Given the description of an element on the screen output the (x, y) to click on. 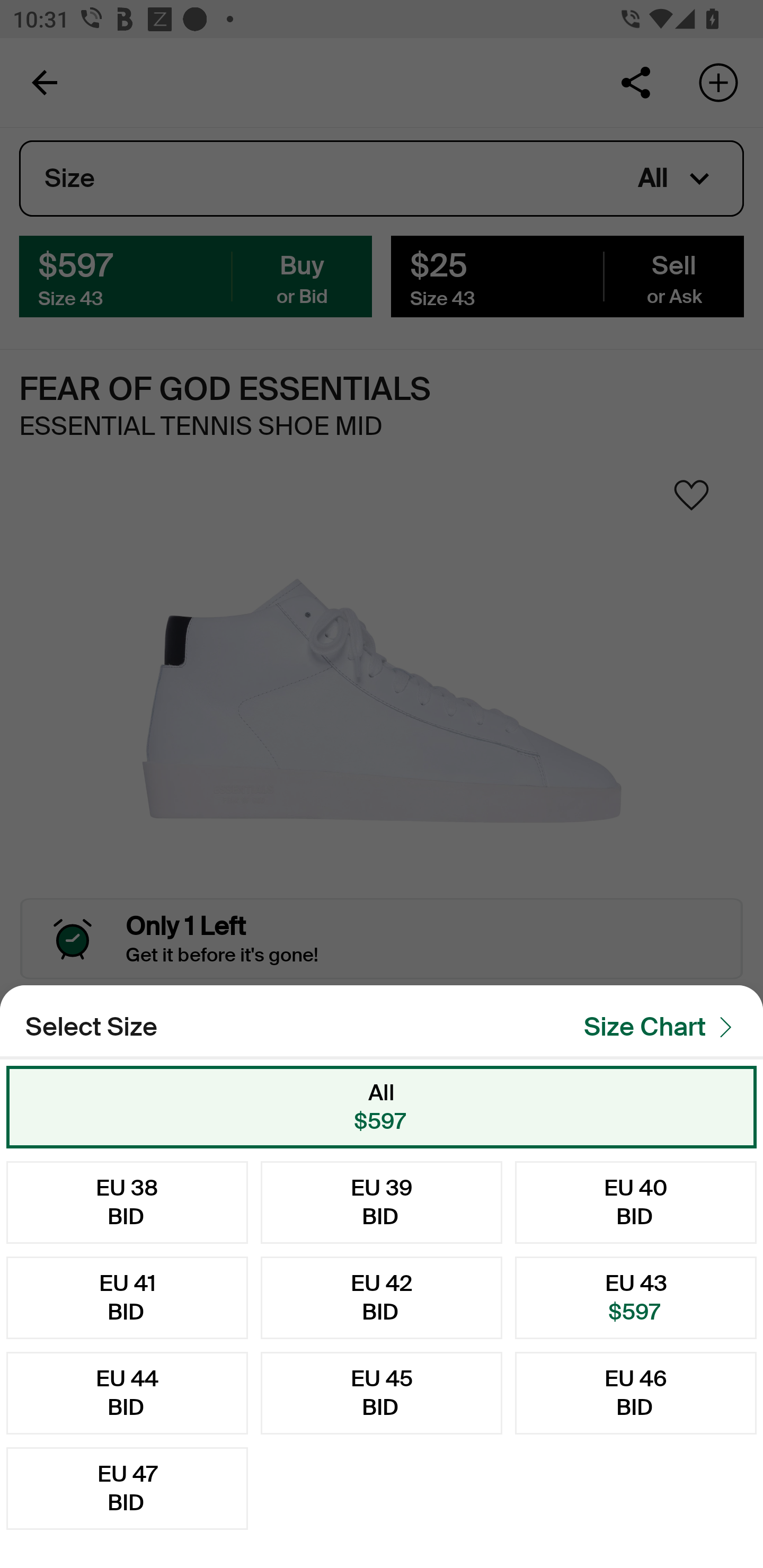
Size Chart (663, 1027)
All $597 (381, 1106)
EU 38 BID (126, 1202)
EU 39 BID (381, 1202)
EU 40 BID (635, 1202)
EU 41 BID (126, 1297)
EU 42 BID (381, 1297)
EU 43 $597 (635, 1297)
EU 44 BID (126, 1392)
EU 45 BID (381, 1392)
EU 46 BID (635, 1392)
EU 47 BID (126, 1488)
